Given the description of an element on the screen output the (x, y) to click on. 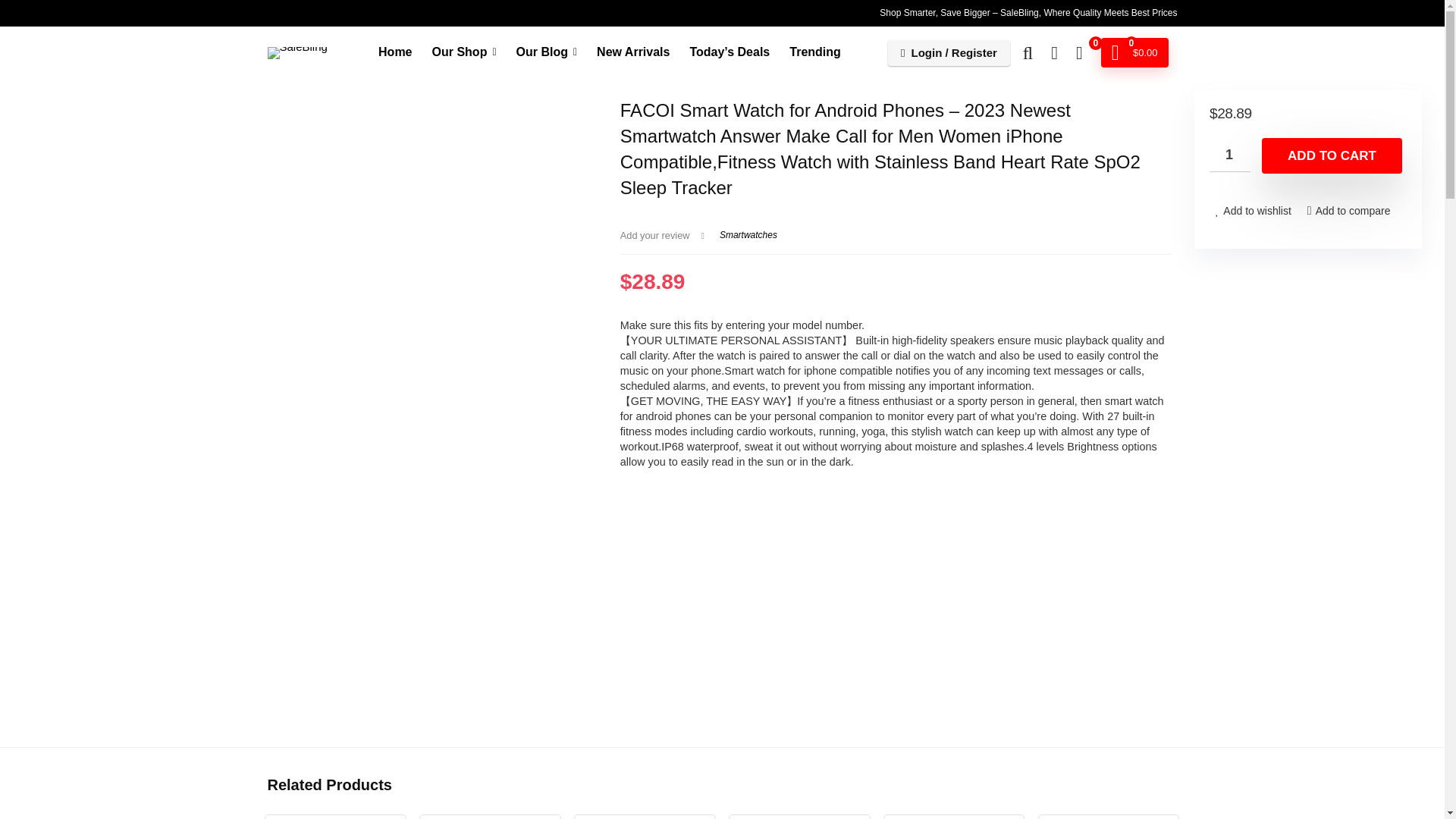
View all posts in Smartwatches (748, 235)
Our Shop (464, 51)
1 (1229, 154)
Home (395, 51)
Add your review (655, 235)
